Given the description of an element on the screen output the (x, y) to click on. 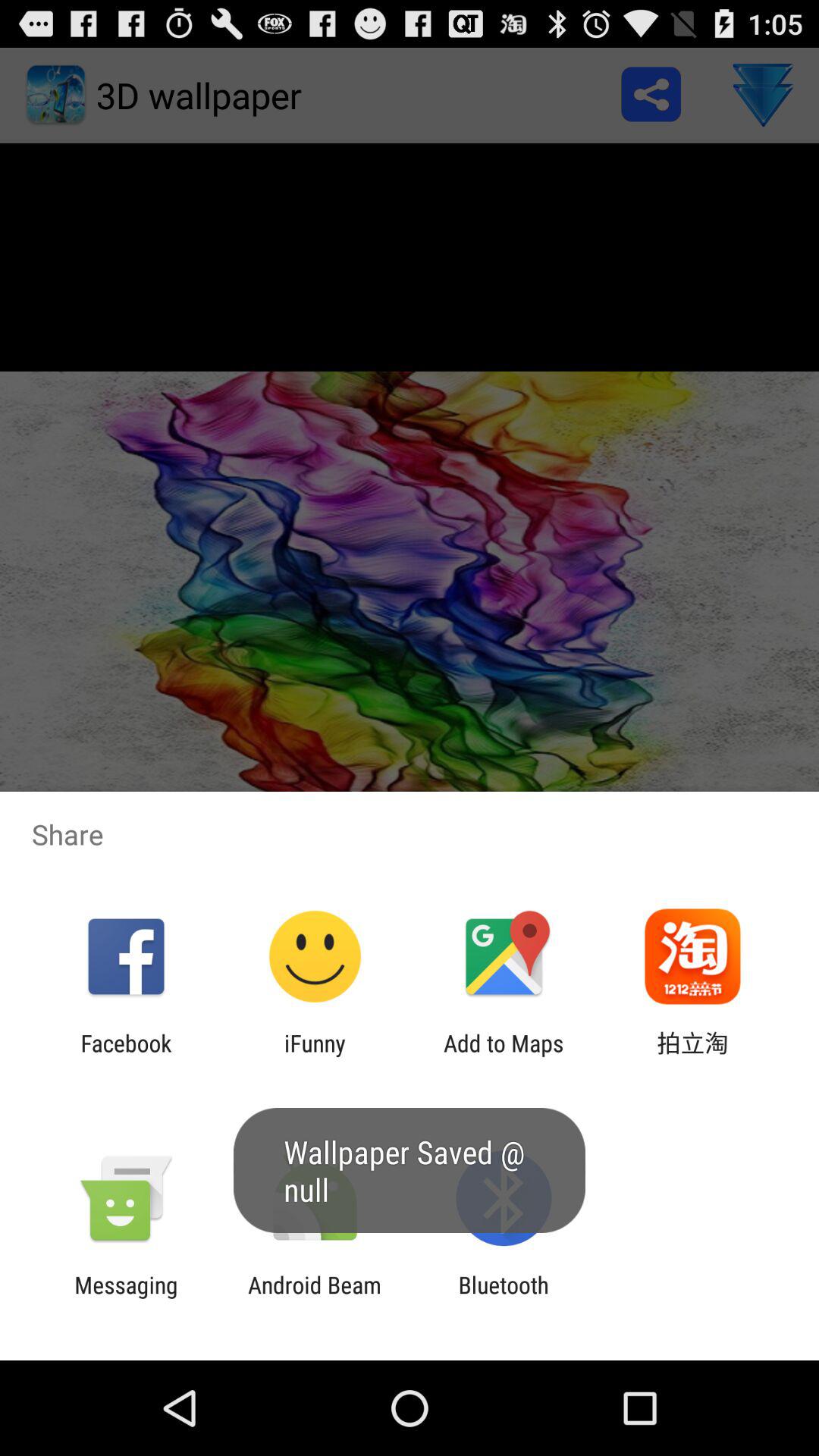
swipe until the bluetooth (503, 1298)
